Given the description of an element on the screen output the (x, y) to click on. 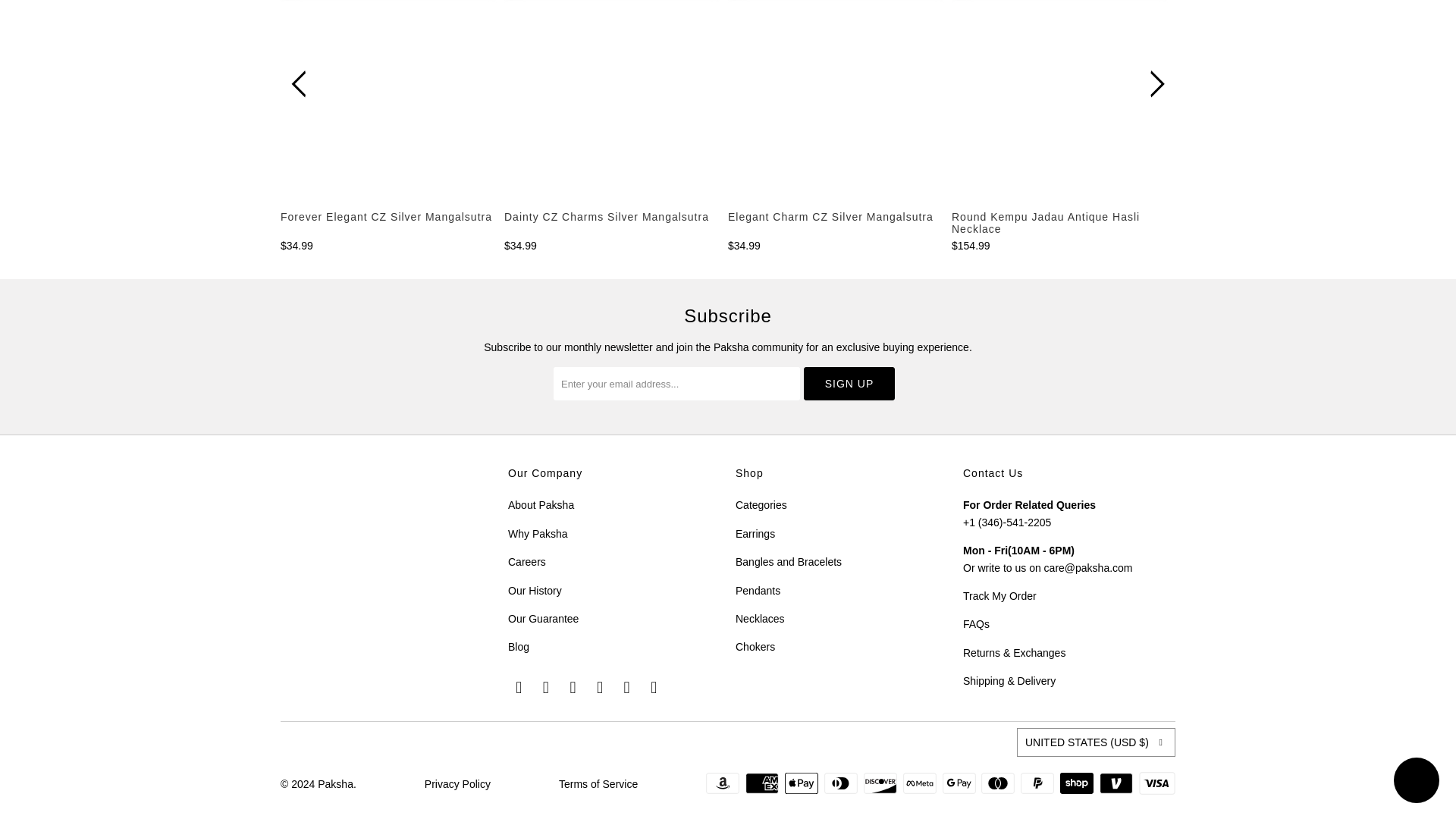
Apple Pay (802, 783)
Diners Club (842, 783)
Mastercard (999, 783)
Amazon (724, 783)
Venmo (1117, 783)
Sign Up (849, 383)
Paksha on Pinterest (573, 687)
Visa (1156, 783)
Meta Pay (920, 783)
PayPal (1038, 783)
